Given the description of an element on the screen output the (x, y) to click on. 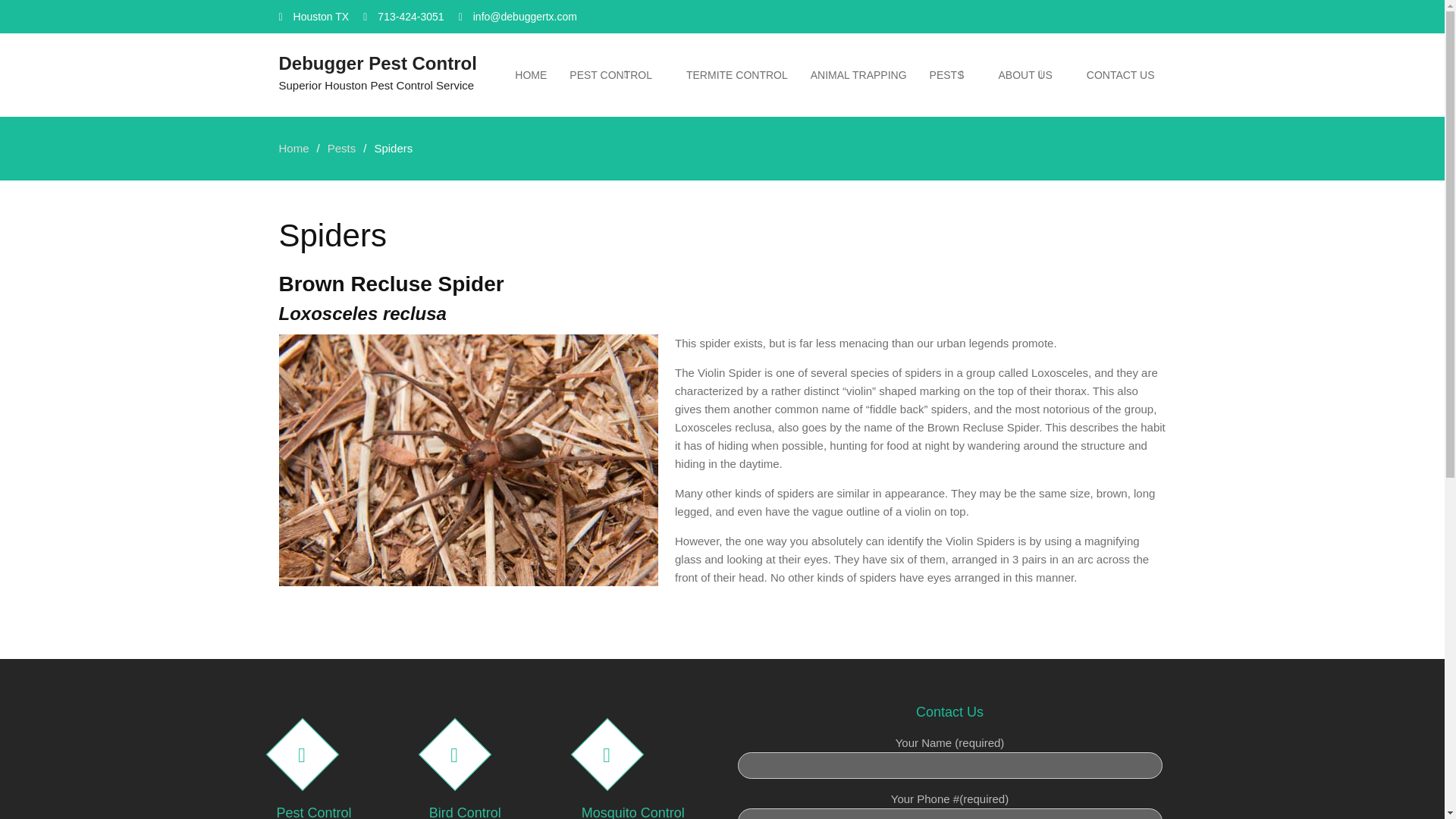
ABOUT US (1030, 74)
Pests (341, 147)
CONTACT US (1120, 74)
PEST CONTROL (616, 74)
Home (293, 147)
PESTS (952, 74)
HOME (530, 74)
ANIMAL TRAPPING (858, 74)
TERMITE CONTROL (737, 74)
Debugger Pest Control (378, 63)
